Given the description of an element on the screen output the (x, y) to click on. 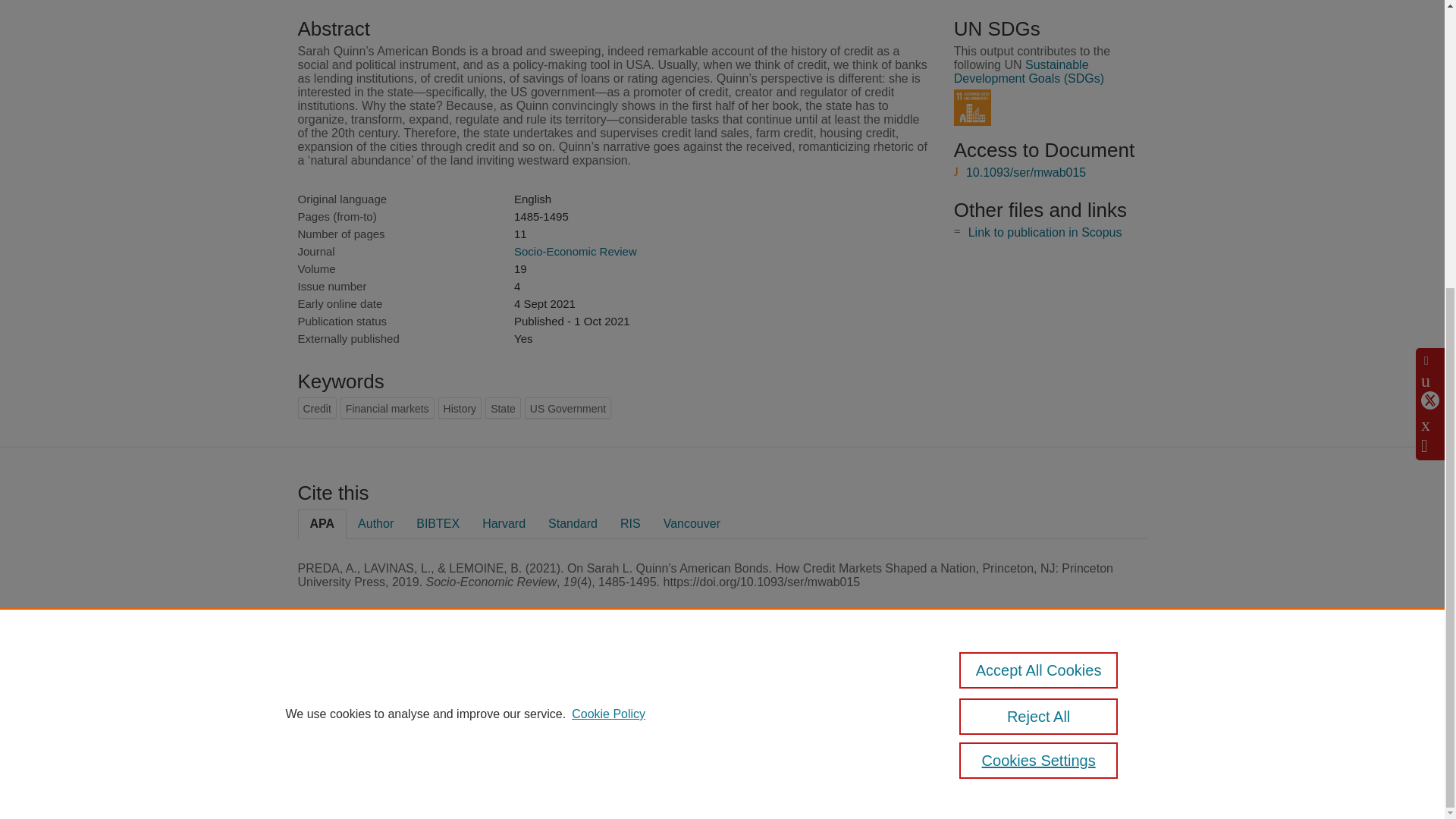
Cookies Settings (334, 761)
Pure (362, 687)
Link to publication in Scopus (1045, 232)
Elsevier B.V. (506, 708)
Scopus (394, 687)
use of cookies (796, 740)
SDG 11 - Sustainable Cities and Communities (972, 107)
Socio-Economic Review (575, 250)
Lingnan Scholars data protection policy (1008, 693)
About web accessibility (1010, 719)
